Given the description of an element on the screen output the (x, y) to click on. 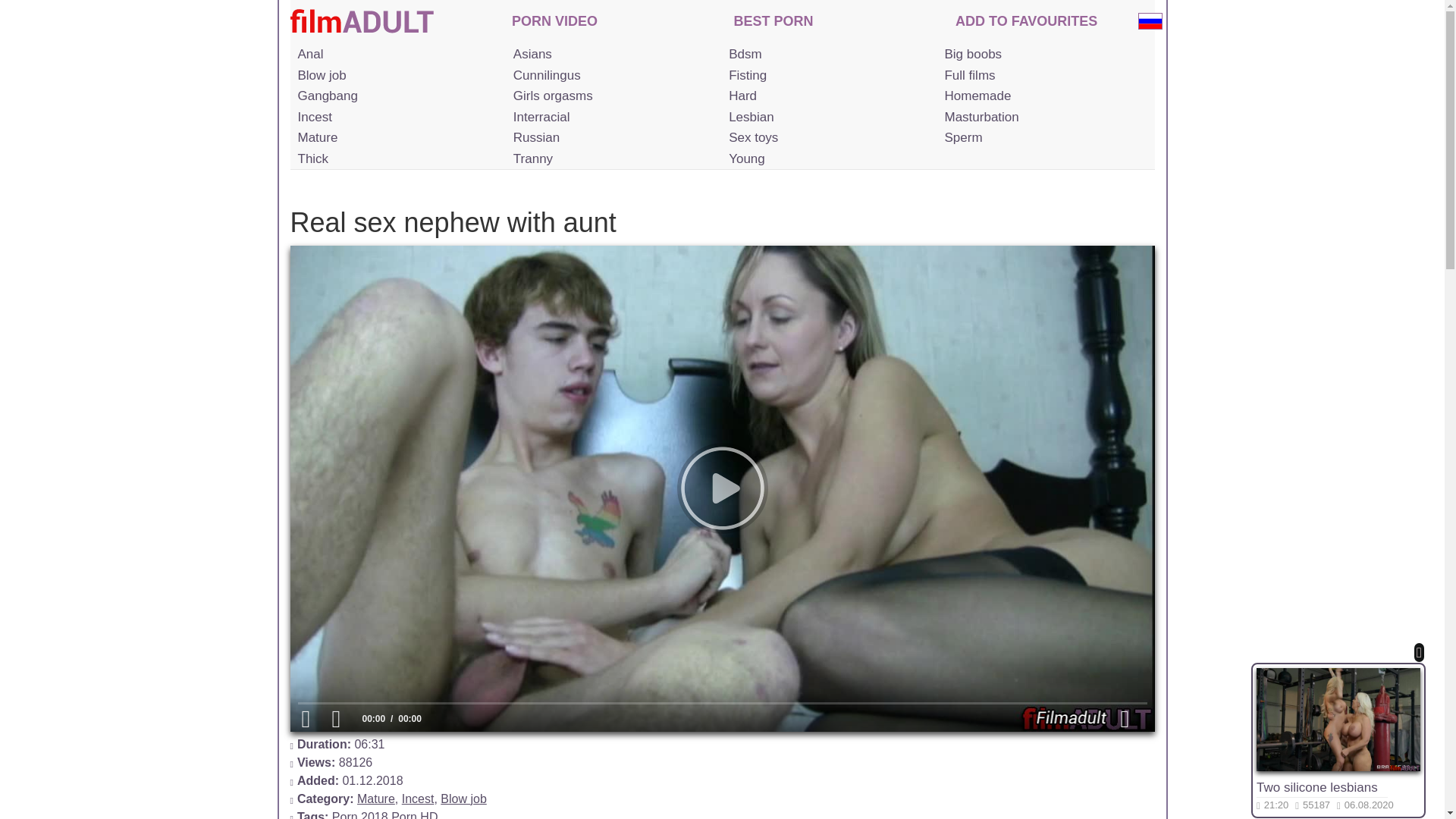
Thick (395, 158)
Blow job (395, 75)
Fisting porn (826, 75)
Big boobs (1042, 54)
Asian porn (611, 54)
Sex toys (826, 137)
The best porn videos for free (773, 22)
Porn with group sex and orgies (395, 96)
Lesbian porn (826, 116)
Homemade (1042, 96)
Full films (1042, 75)
Asians (611, 54)
Lesbian (826, 116)
Incest (395, 116)
